Given the description of an element on the screen output the (x, y) to click on. 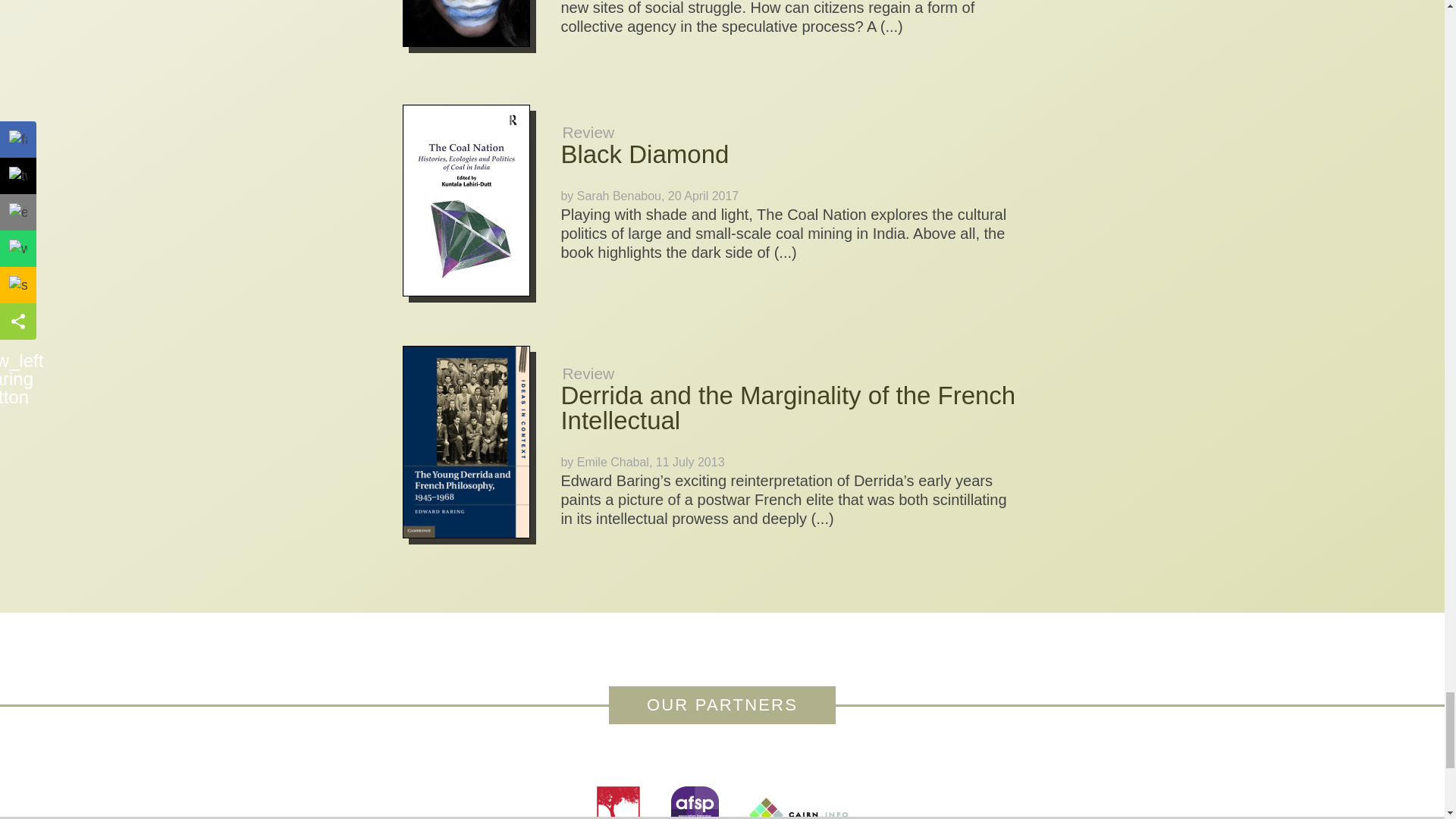
casbs  (618, 802)
Cairn.info (798, 808)
afsp (693, 802)
